Given the description of an element on the screen output the (x, y) to click on. 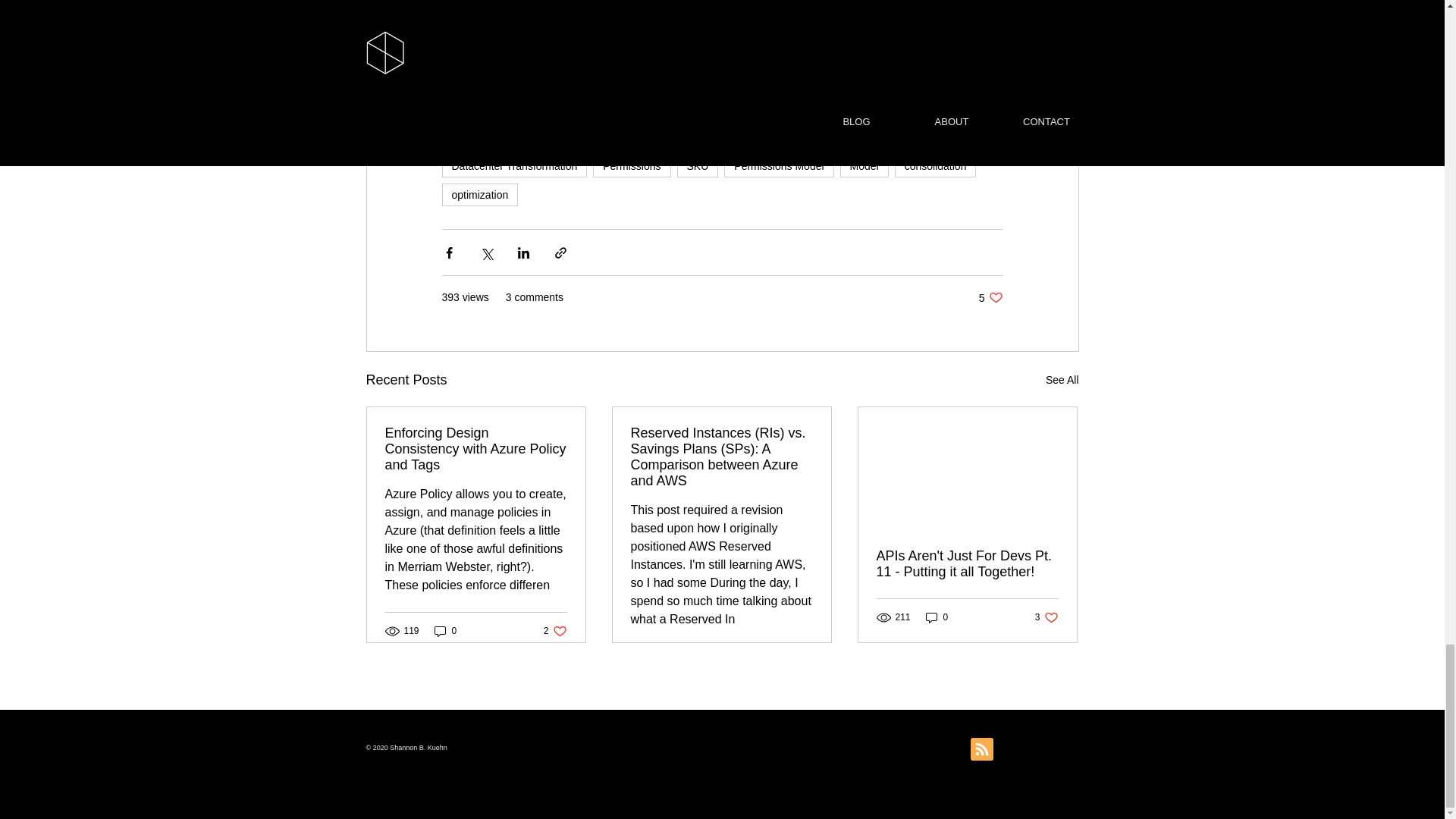
Datacenter Transformation (555, 631)
cloud (513, 165)
See All (597, 137)
Log (1061, 380)
0 (644, 137)
consolidation (445, 631)
optimization (935, 165)
Permissions Model (479, 194)
Azure (777, 165)
Enforcing Design Consistency with Azure Policy and Tags (990, 297)
PowerShell (465, 137)
Log Analytics workspaces (476, 449)
SKU (532, 137)
